Given the description of an element on the screen output the (x, y) to click on. 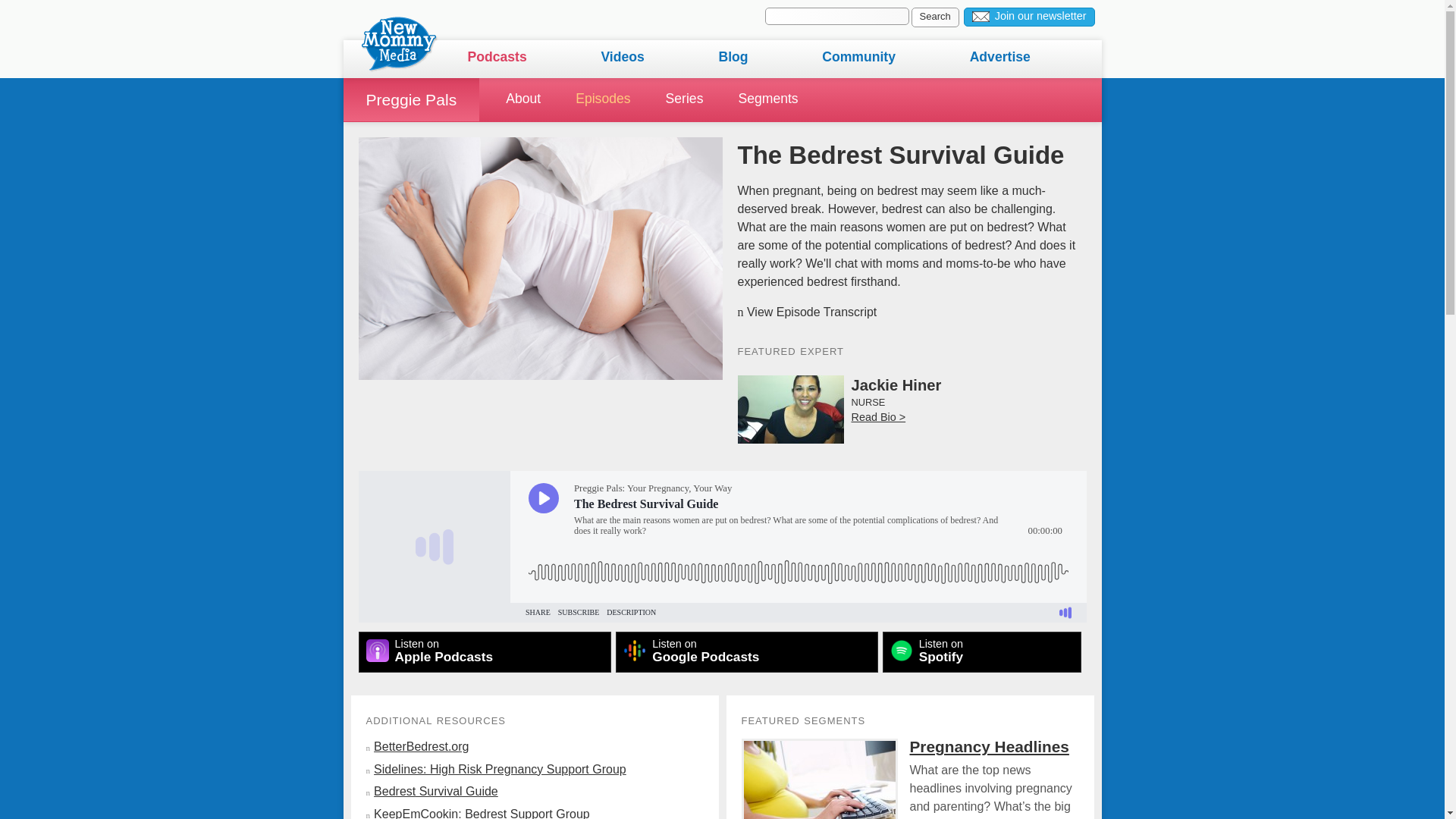
Sidelines: High Risk Pregnancy Support Group (500, 768)
KeepEmCookin: Bedrest Support Group (981, 651)
Join our newsletter (481, 813)
Segments (1028, 16)
Listen on Google Podcasts (785, 99)
Advertise (746, 651)
Bedrest Survival Guide (1034, 57)
View Episode Transcript (435, 790)
BetterBedrest.org (811, 311)
Search (421, 746)
Preggie Pals (484, 651)
Listen on Apple Podcasts (935, 17)
Videos (410, 99)
